Given the description of an element on the screen output the (x, y) to click on. 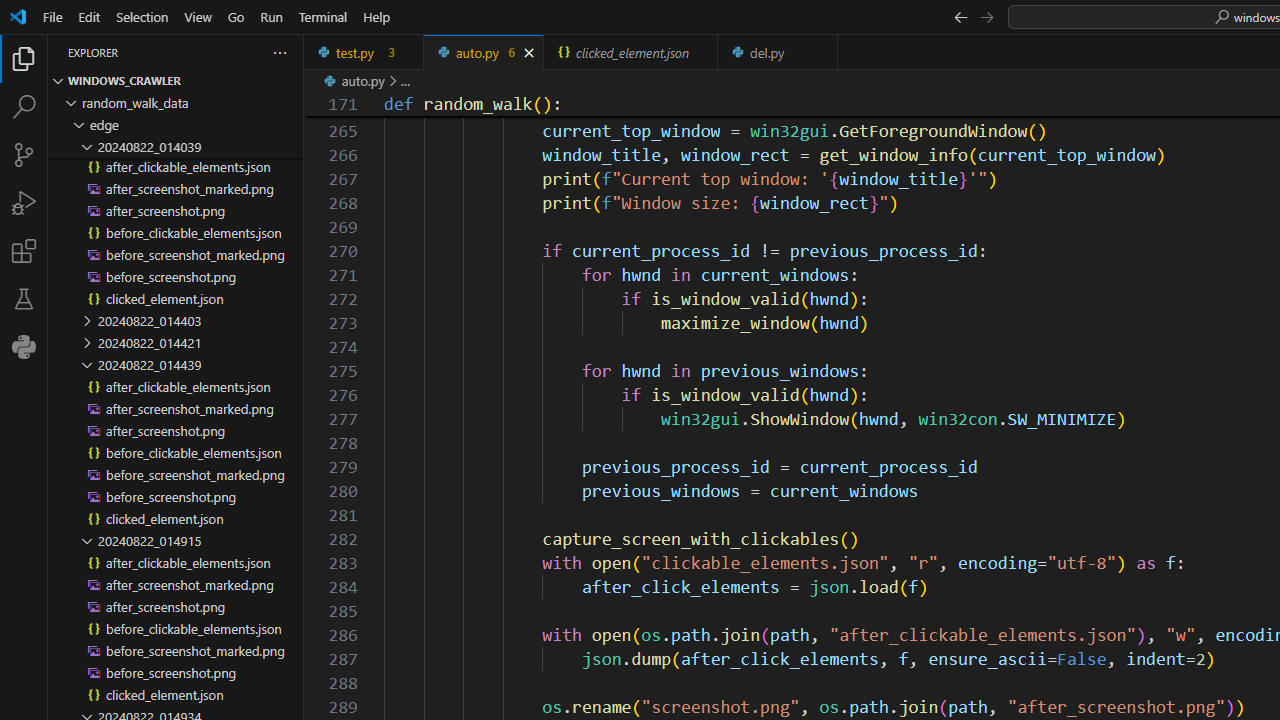
clicked_element.json, preview (631, 52)
Source Control (Ctrl+Shift+G) (24, 155)
Search (Ctrl+Shift+F) (24, 106)
Tab actions (823, 52)
Explorer actions (208, 52)
del.py (778, 52)
Go Forward (Alt+RightArrow) (986, 16)
Run and Debug (Ctrl+Shift+D) (24, 202)
Edit (89, 16)
File (52, 16)
auto.py (483, 52)
Run (271, 16)
Go (235, 16)
